Given the description of an element on the screen output the (x, y) to click on. 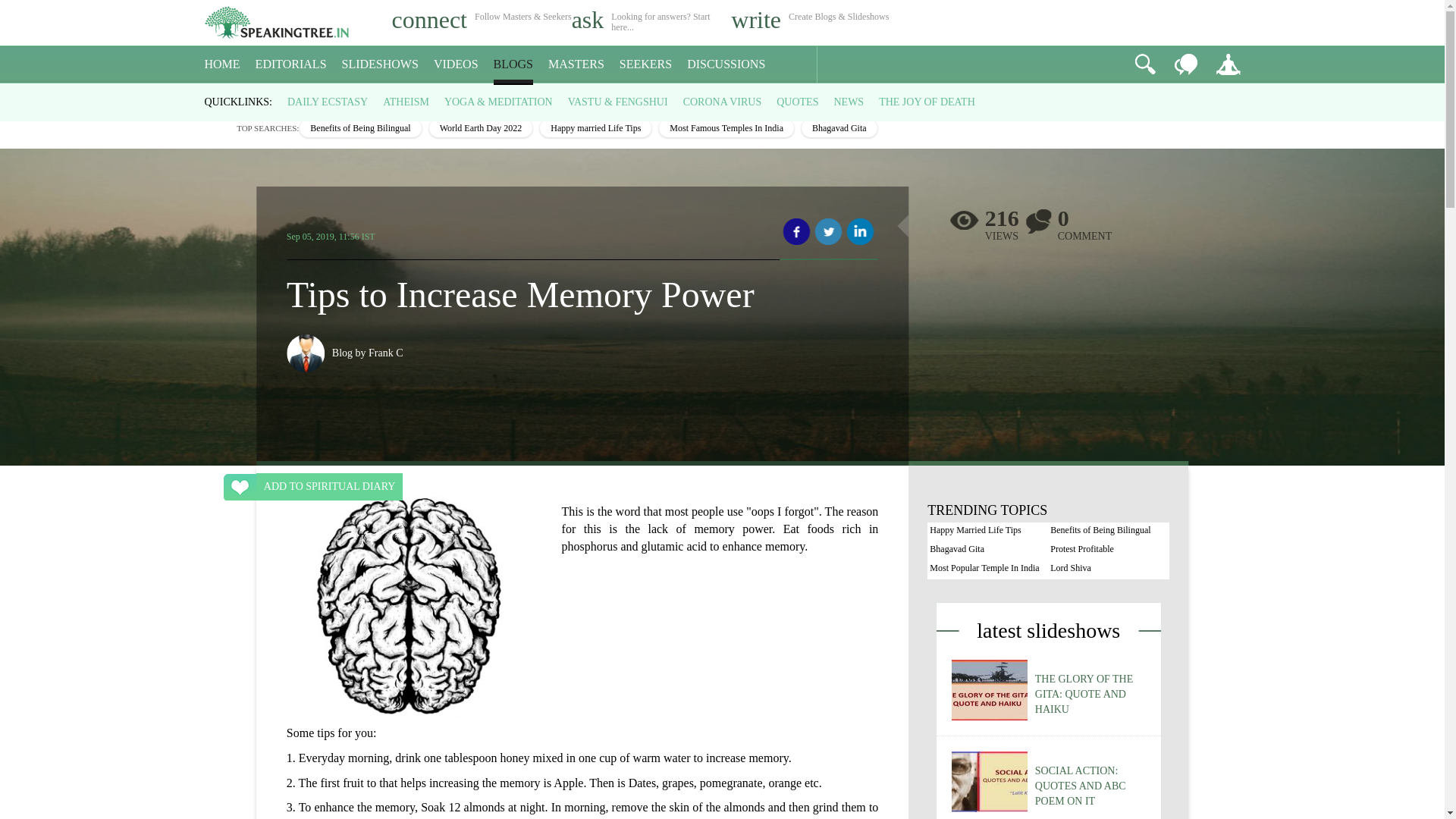
BLOGS (512, 64)
Share on Twitter (828, 231)
QUOTES (797, 101)
DAILY ECSTASY (327, 101)
Blogs (251, 96)
MASTERS (576, 64)
ATHEISM (405, 101)
THE JOY OF DEATH (927, 101)
VIDEOS (456, 64)
SEEKERS (645, 64)
